Given the description of an element on the screen output the (x, y) to click on. 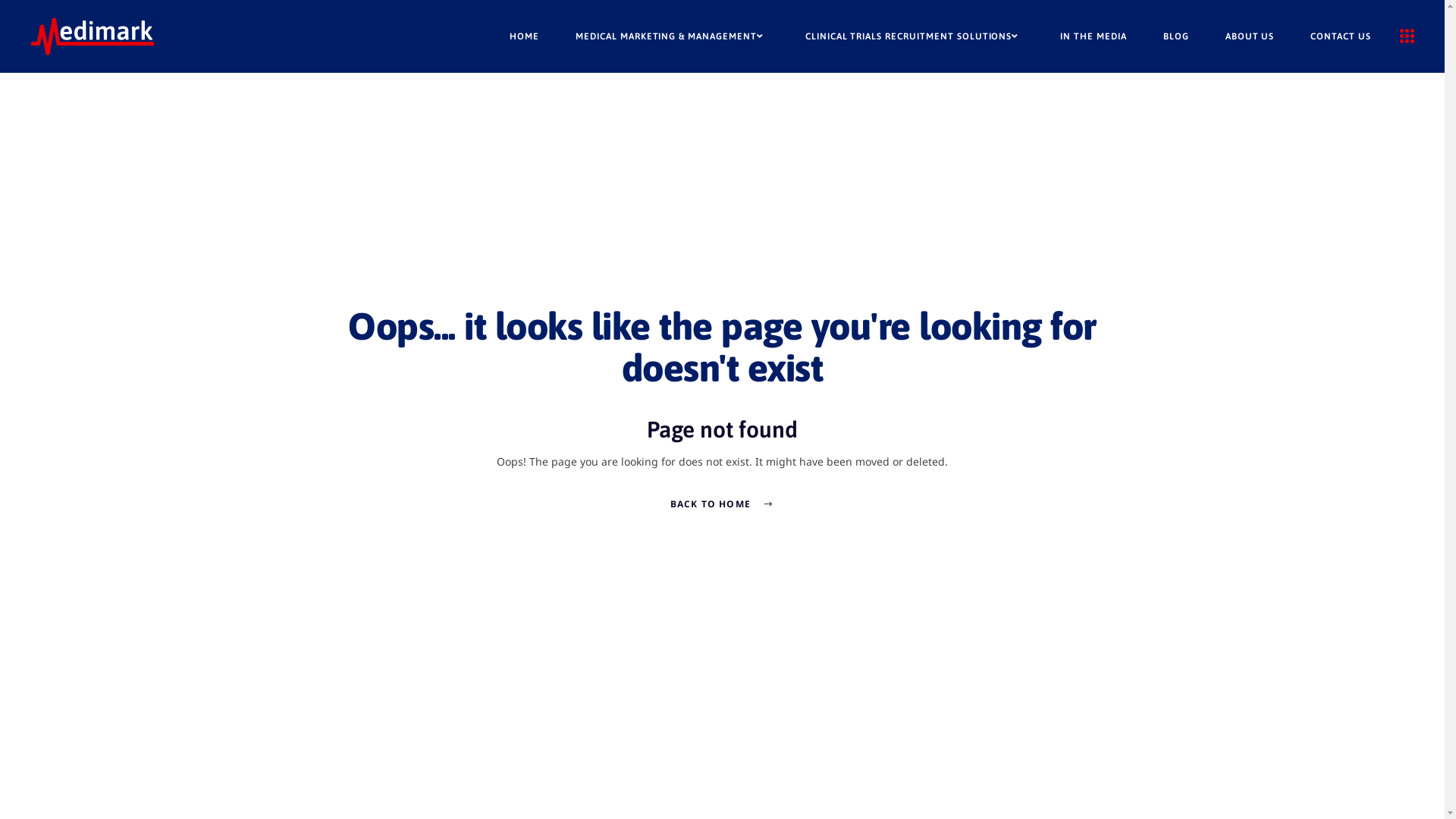
HOME Element type: text (524, 35)
BLOG Element type: text (1176, 35)
CONTACT US Element type: text (1340, 35)
CLINICAL TRIALS RECRUITMENT SOLUTIONS Element type: text (914, 35)
ABOUT US Element type: text (1249, 35)
IN THE MEDIA Element type: text (1093, 35)
BACK TO HOME Element type: text (722, 503)
MEDICAL MARKETING & MANAGEMENT Element type: text (671, 35)
